Given the description of an element on the screen output the (x, y) to click on. 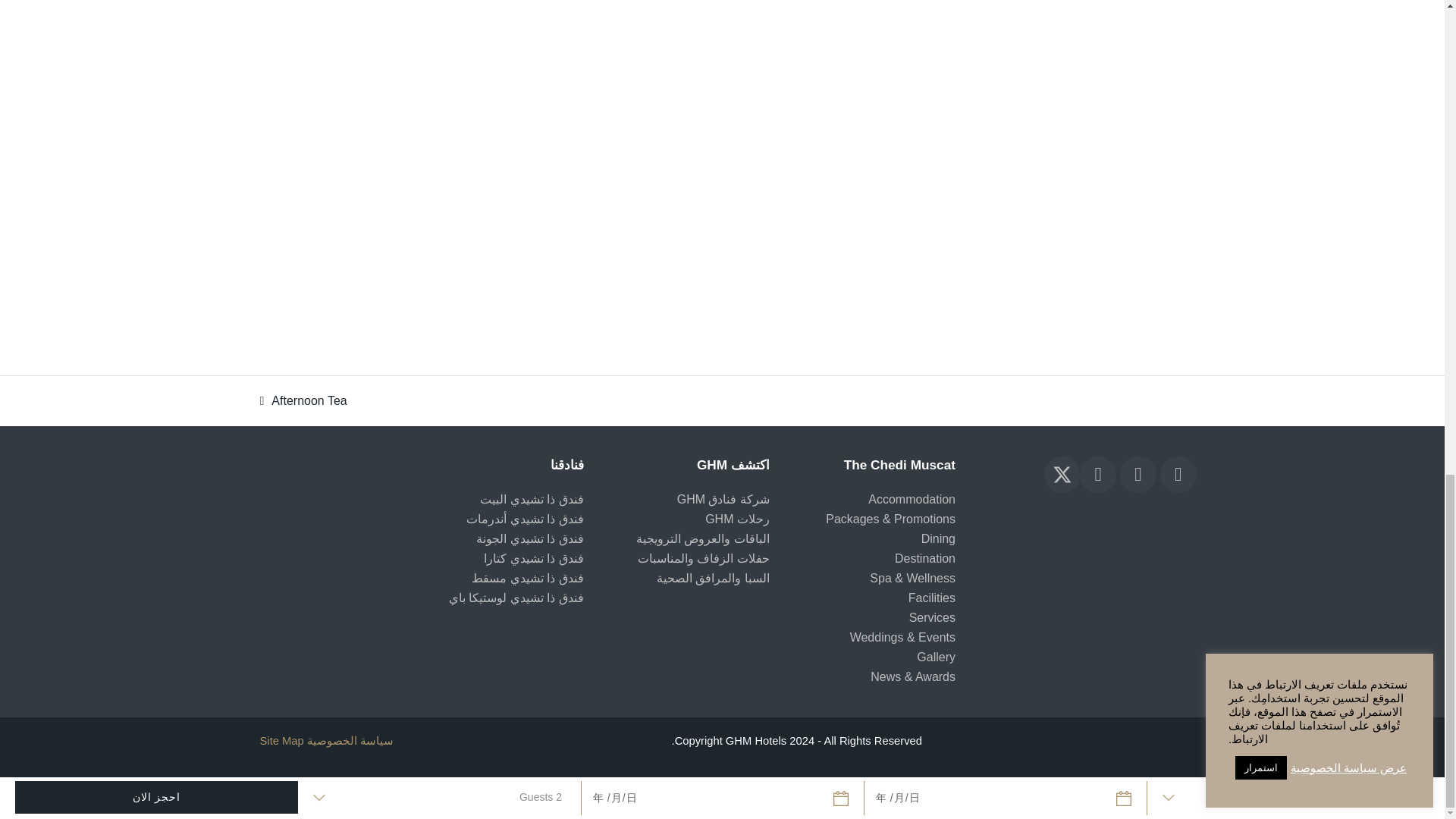
Instagram (1178, 474)
LinkedIn (1098, 474)
X Twitter (1061, 474)
Facebook (1137, 474)
